Given the description of an element on the screen output the (x, y) to click on. 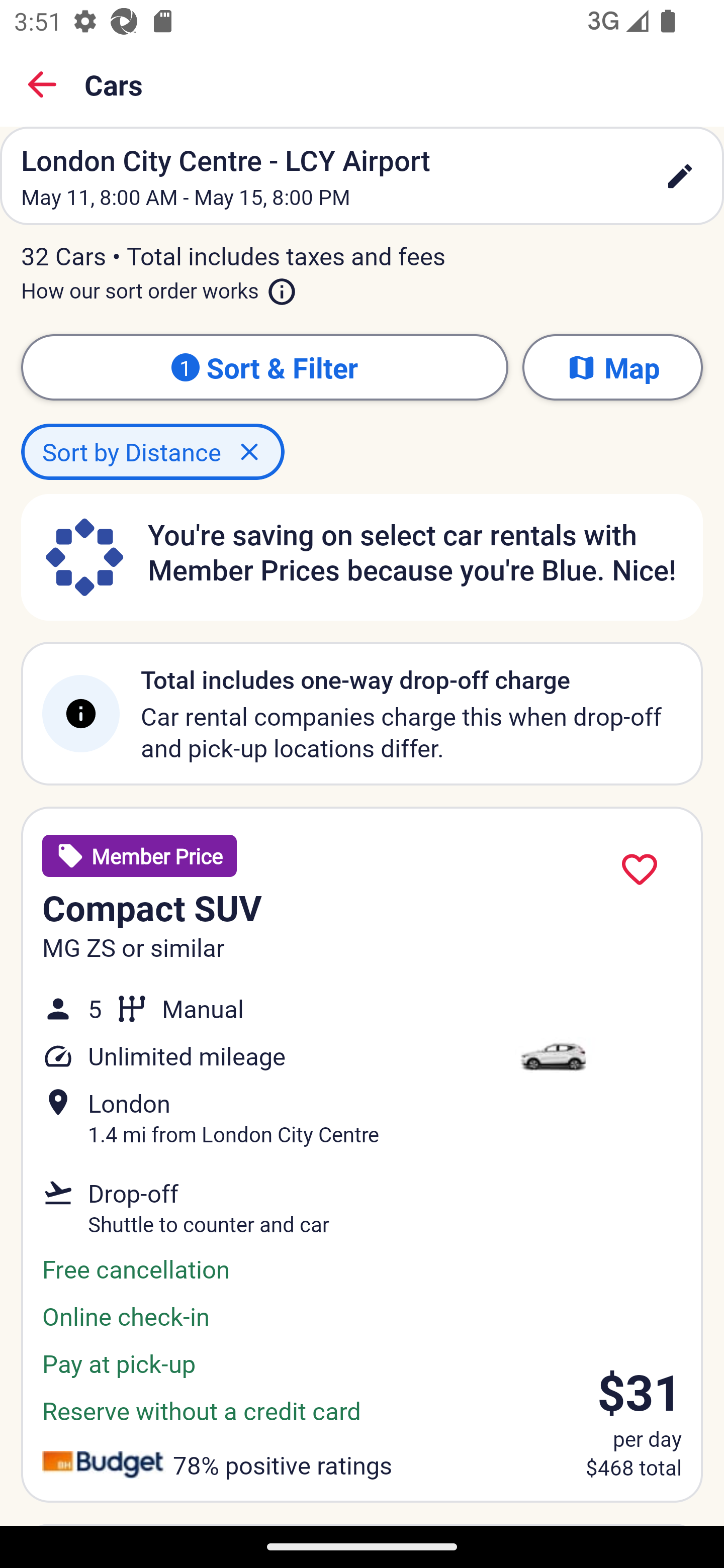
Back (42, 84)
edit (679, 175)
1 Sort & Filter (264, 366)
Map (612, 366)
